Given the description of an element on the screen output the (x, y) to click on. 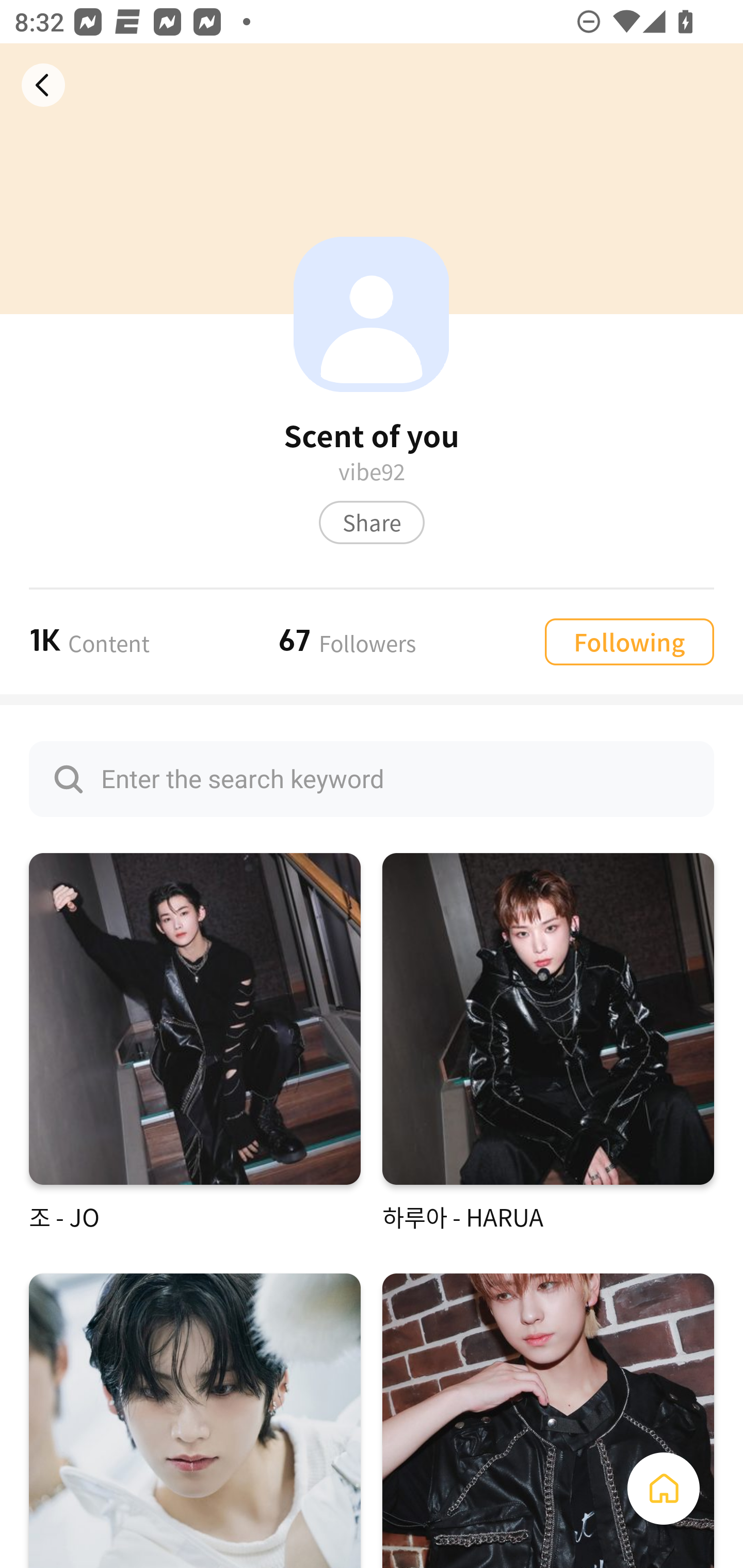
Share (371, 522)
Following (629, 640)
Enter the search keyword (371, 778)
조  -  JO (194, 1043)
하루아  -  HARUA (548, 1043)
